Given the description of an element on the screen output the (x, y) to click on. 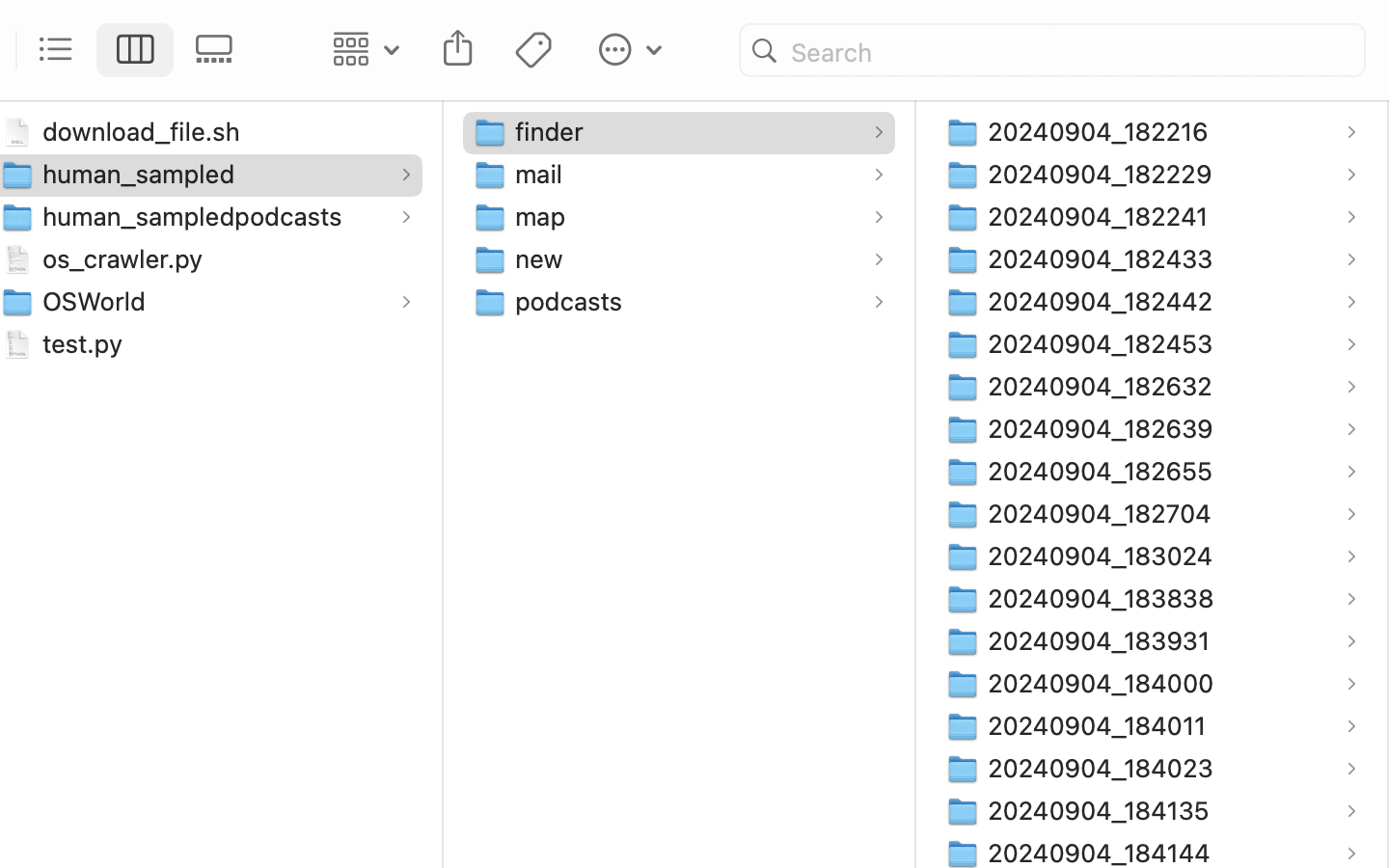
20240904_184023 Element type: AXTextField (1104, 767)
